Given the description of an element on the screen output the (x, y) to click on. 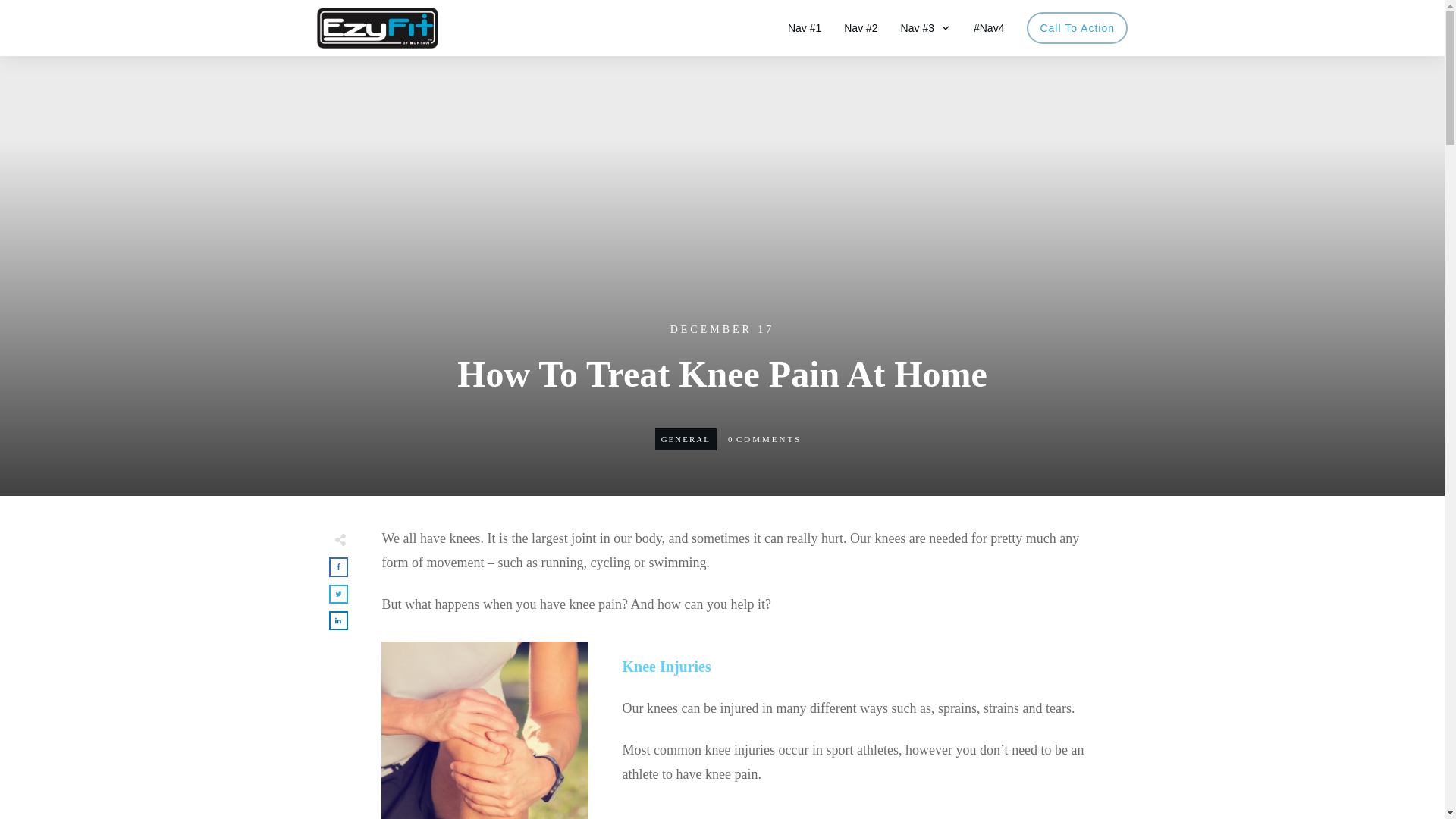
General (685, 438)
fdb01d0ce7474cc0967604441839a764 (484, 730)
GENERAL (685, 438)
Call To Action (1077, 27)
